Given the description of an element on the screen output the (x, y) to click on. 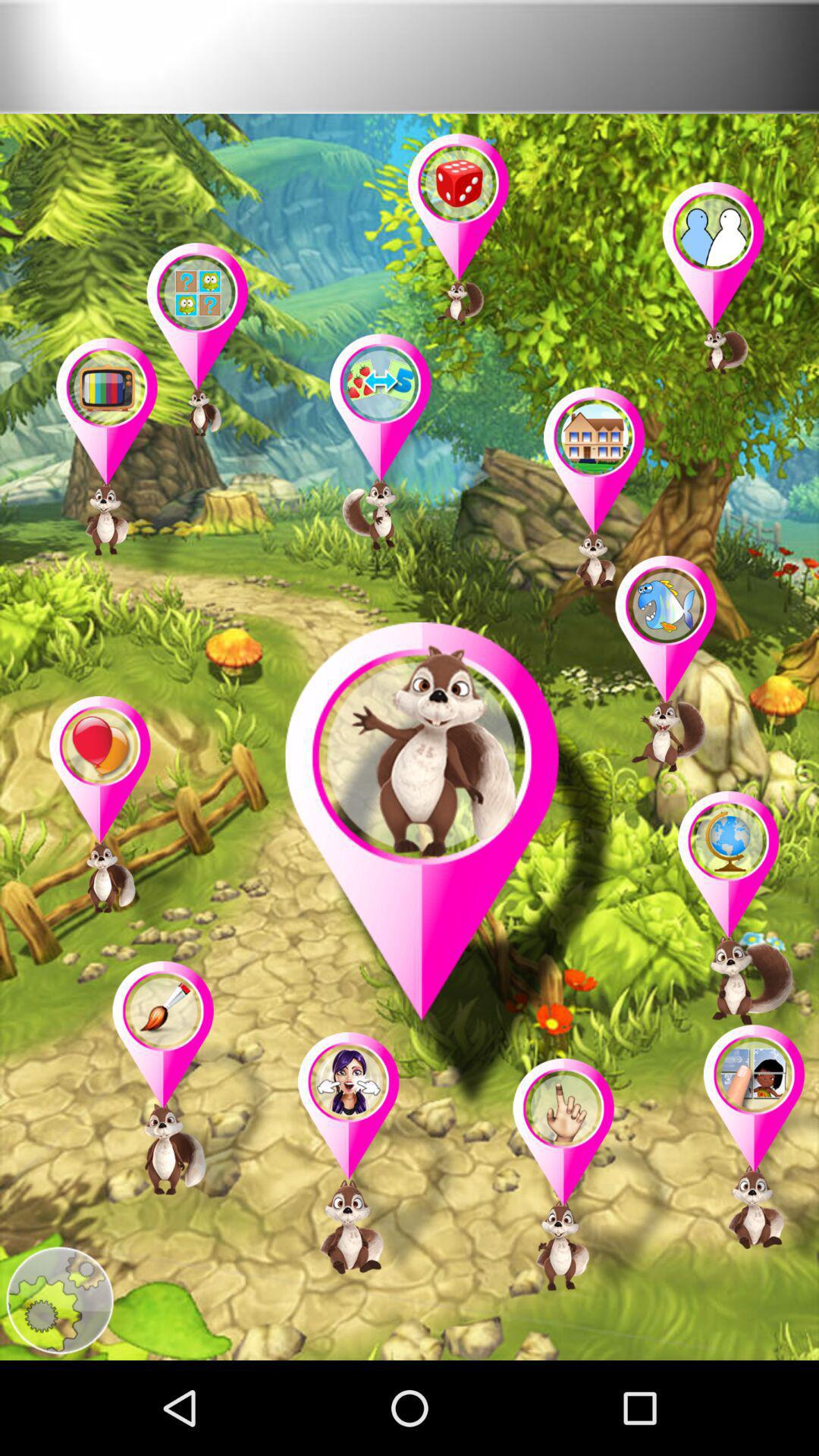
other players (194, 1085)
